Given the description of an element on the screen output the (x, y) to click on. 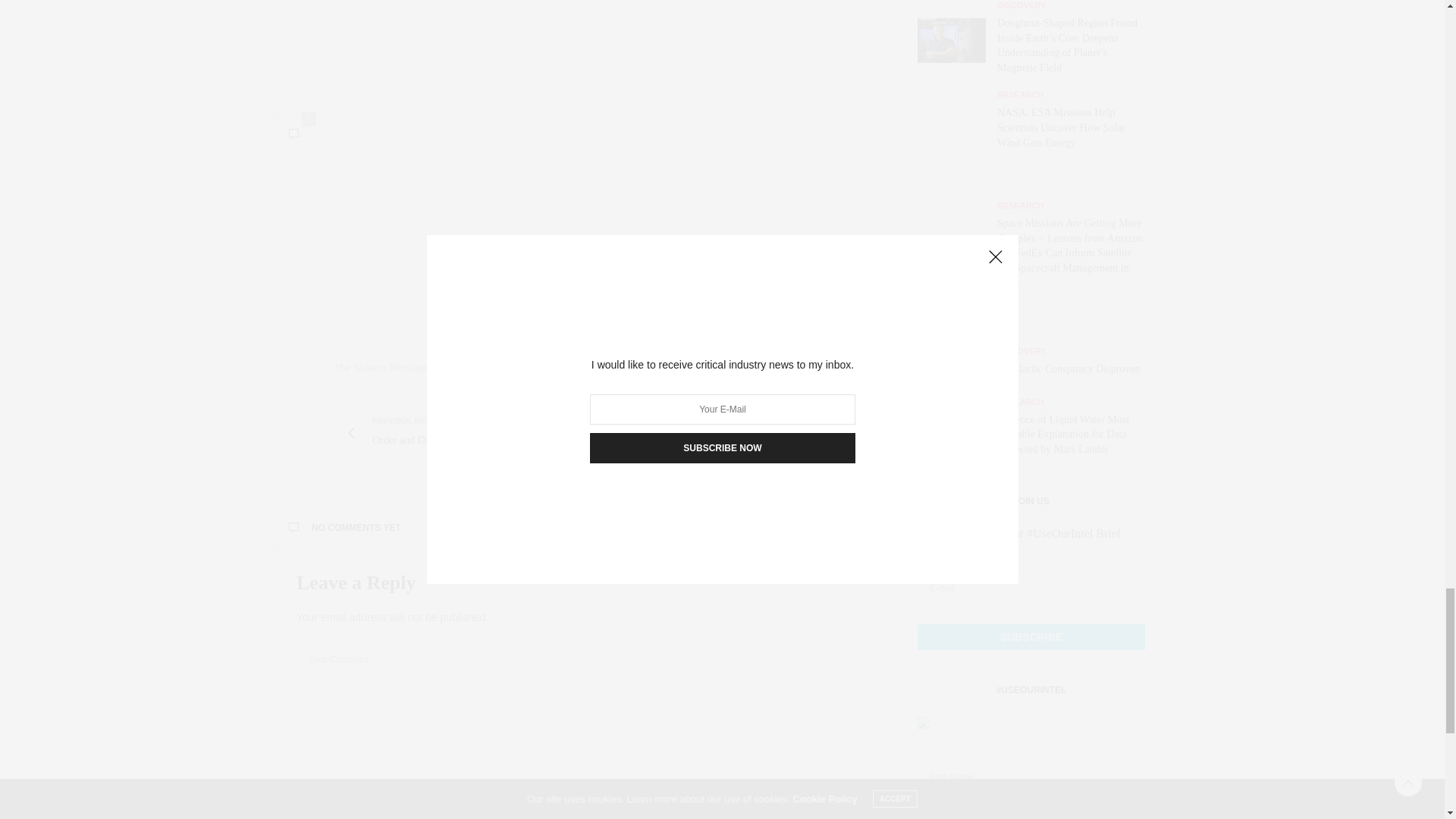
NO COMMENTS YET (564, 528)
